Given the description of an element on the screen output the (x, y) to click on. 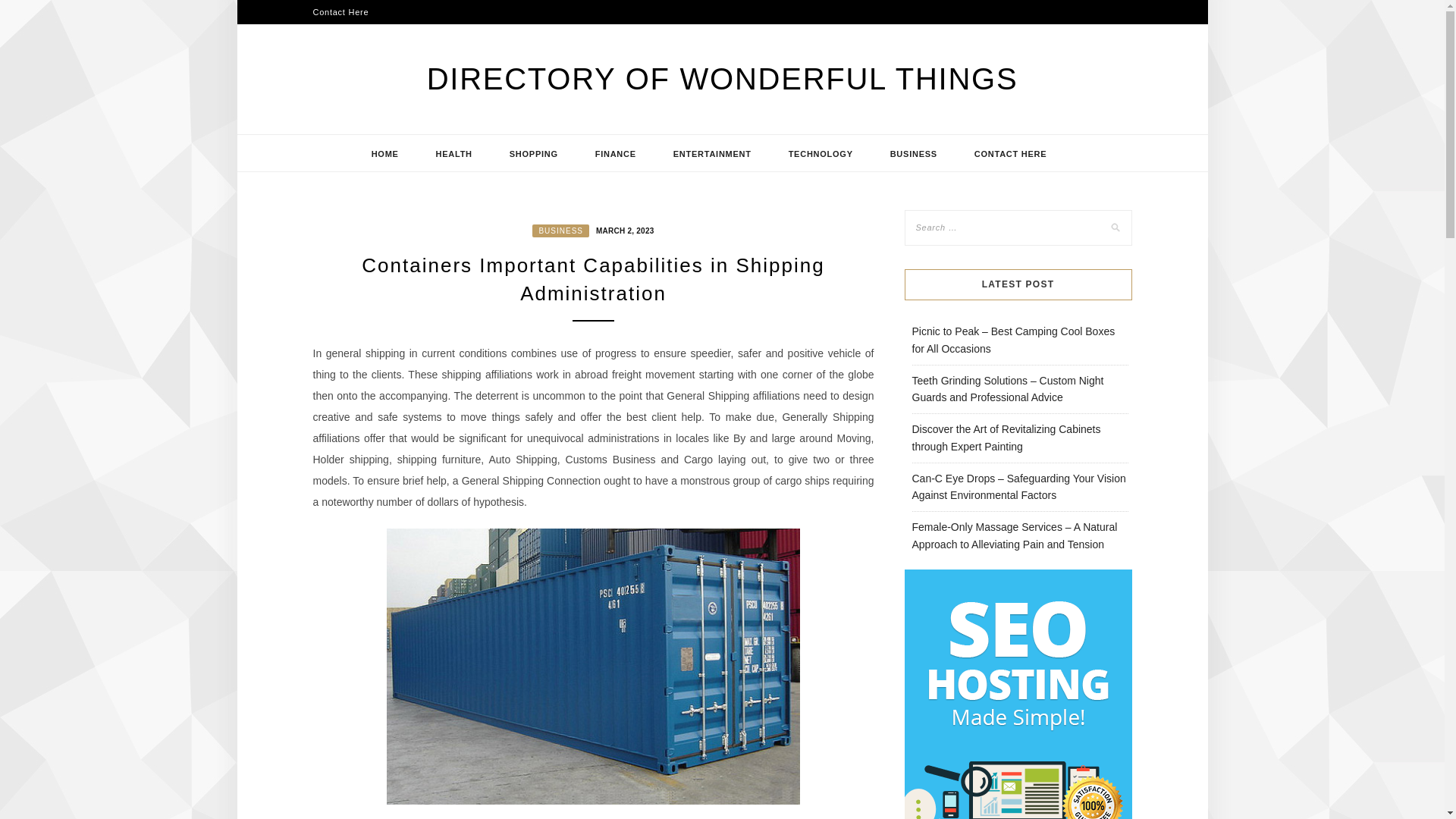
HEALTH (454, 153)
Search (28, 11)
MARCH 2, 2023 (622, 229)
ENTERTAINMENT (712, 153)
Contact Here (340, 12)
CONTACT HERE (1011, 153)
HOME (385, 153)
FINANCE (615, 153)
BUSINESS (913, 153)
DIRECTORY OF WONDERFUL THINGS (721, 78)
